Given the description of an element on the screen output the (x, y) to click on. 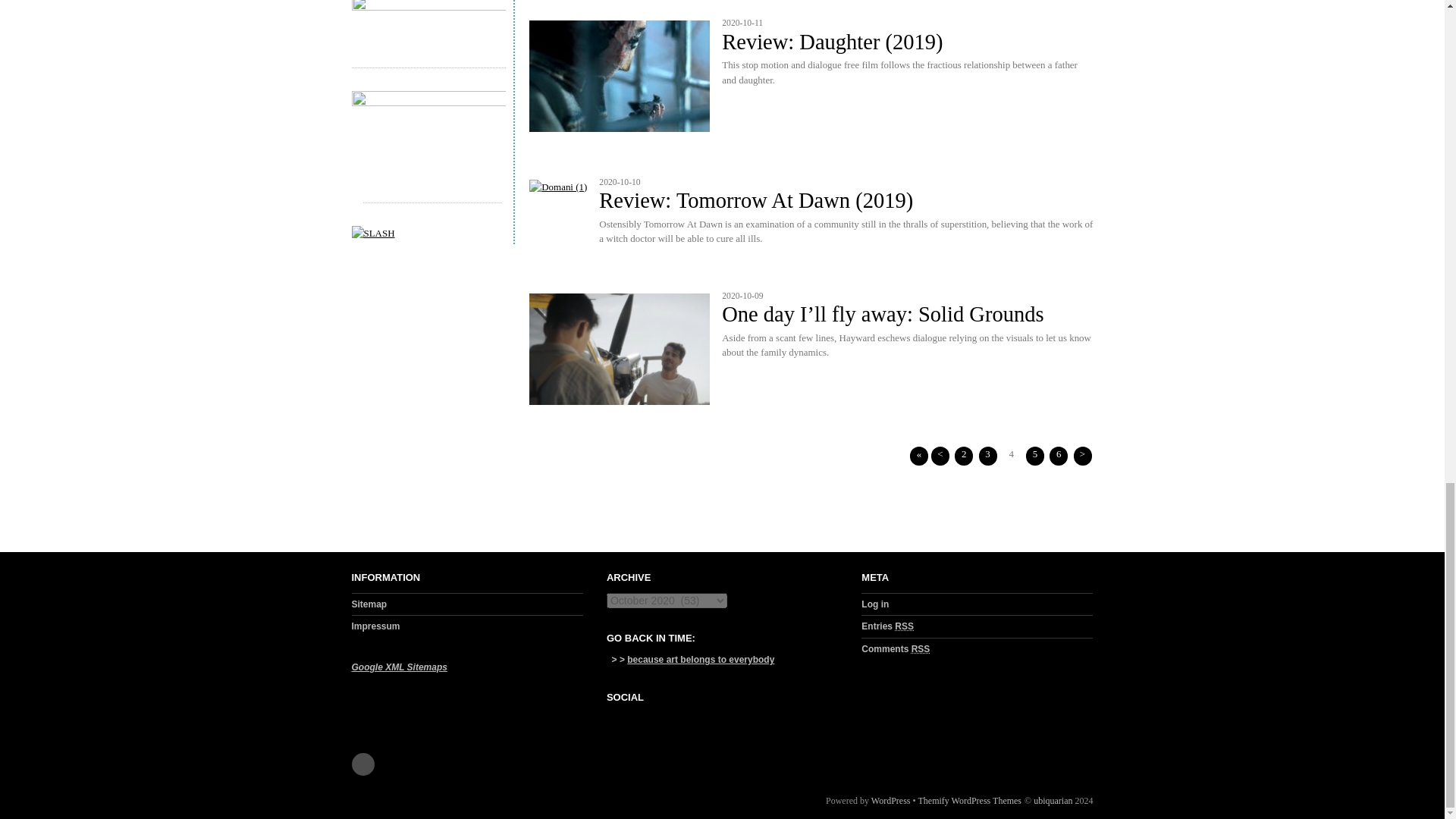
Pinterest (663, 720)
Launch Email Program (736, 720)
Add to Favorites (761, 720)
Really Simple Syndication (904, 625)
YouTube (688, 720)
Facebook (615, 720)
Really Simple Syndication (920, 648)
Follow Us On Twitter (639, 720)
Contact Page (712, 720)
